Given the description of an element on the screen output the (x, y) to click on. 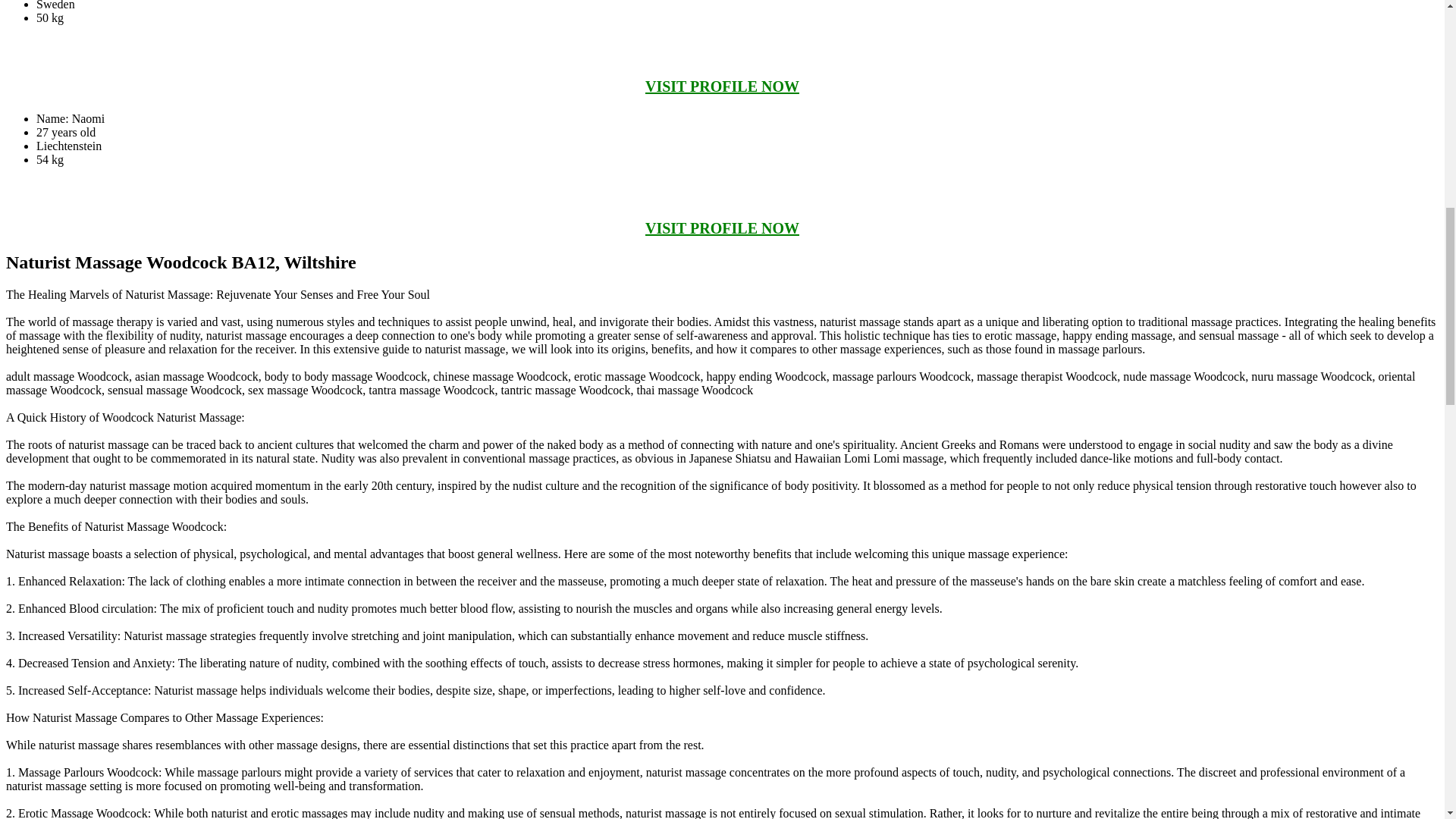
VISIT PROFILE NOW (722, 86)
VISIT PROFILE NOW (722, 228)
